Given the description of an element on the screen output the (x, y) to click on. 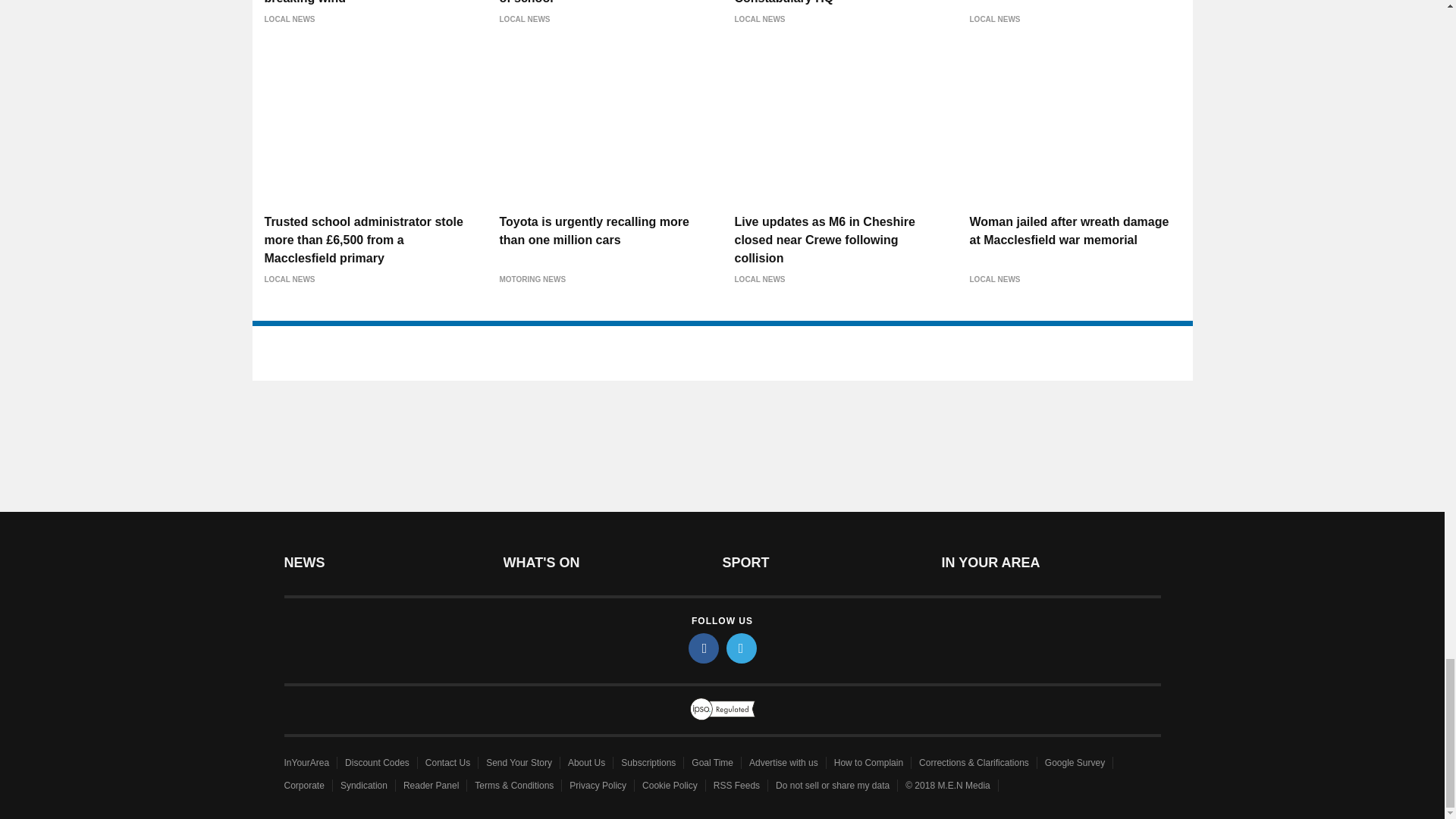
twitter (741, 648)
facebook (703, 648)
